Given the description of an element on the screen output the (x, y) to click on. 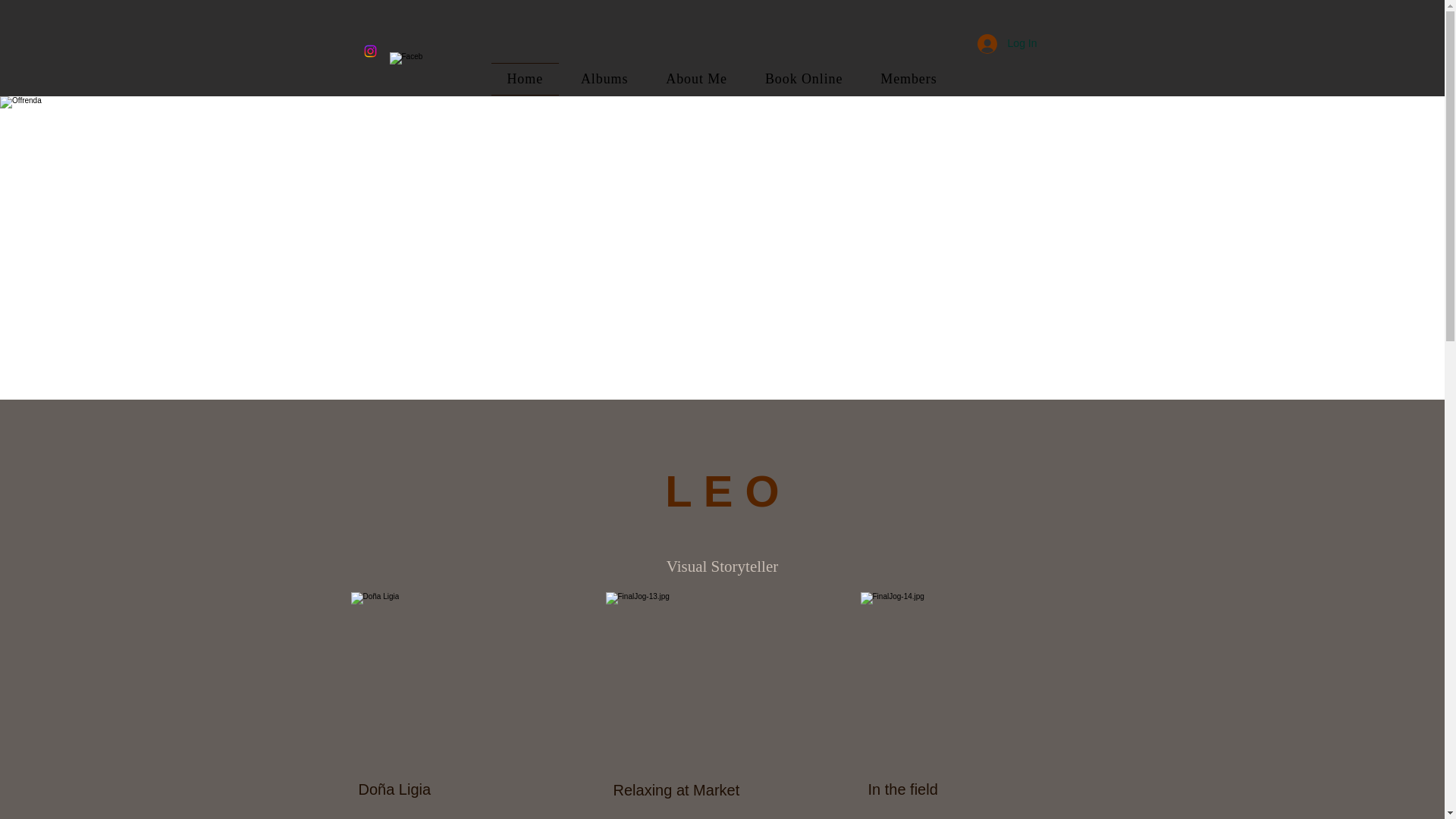
Log In (1007, 42)
About Me (695, 79)
Book Online (804, 79)
Home (525, 79)
Members (908, 79)
Albums (603, 79)
